Given the description of an element on the screen output the (x, y) to click on. 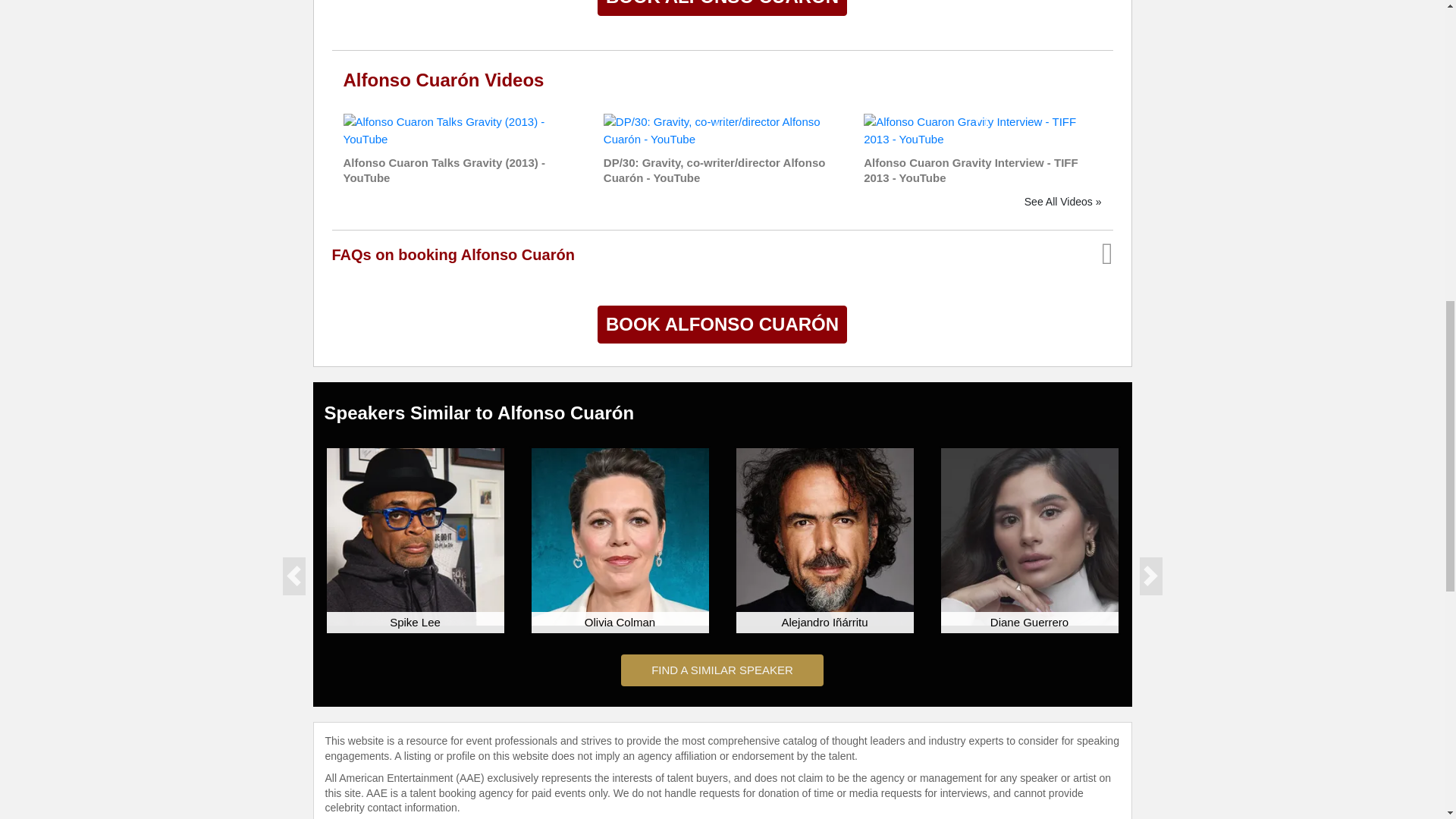
Spike Lee (414, 536)
Olivia Colman (619, 536)
Diane Guerrero (1029, 536)
Alfonso Cuaron Gravity Interview - TIFF 2013 - YouTube (981, 129)
